Given the description of an element on the screen output the (x, y) to click on. 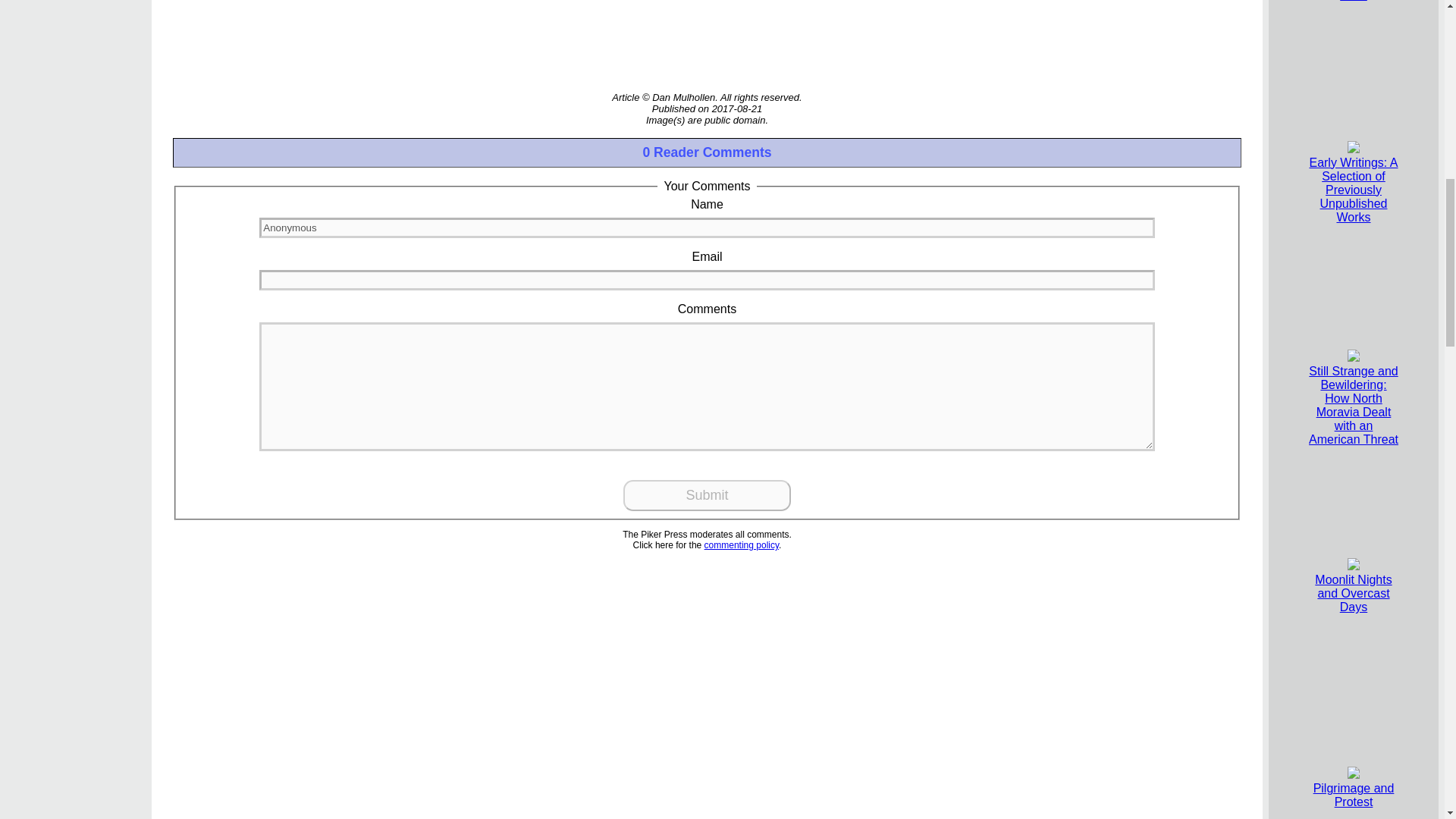
Submit (706, 495)
Early Writings: A Selection of Previously Unpublished Works (1352, 182)
Anonymous (706, 227)
Pilgrimage and Protest (1353, 788)
Moonlit Nights and Overcast Days (1352, 586)
Submit (706, 495)
commenting policy (741, 544)
By the Dawn's Early Light: writing 2019-2020 (1352, 0)
